Given the description of an element on the screen output the (x, y) to click on. 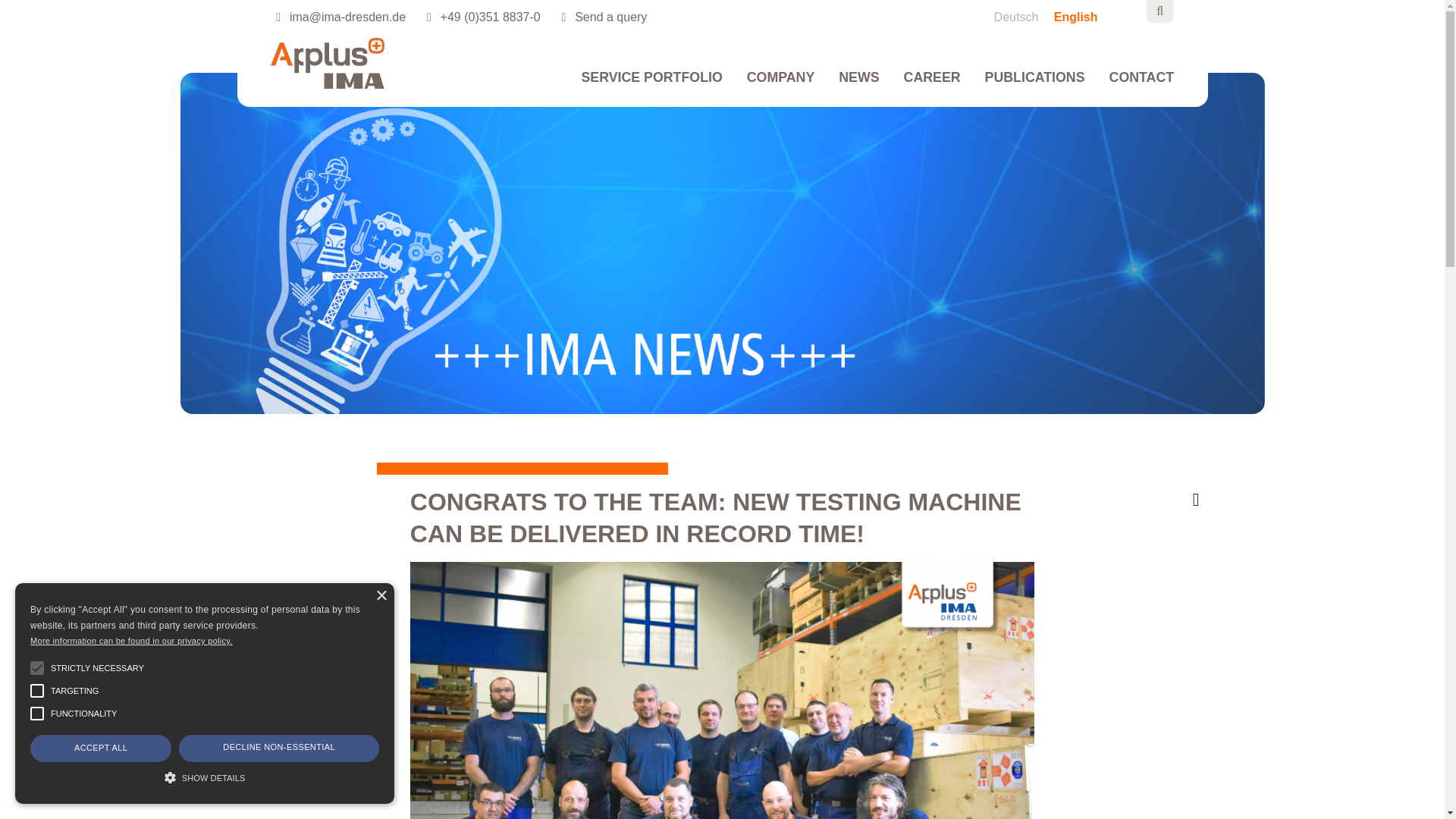
COMPANY (780, 86)
Deutsch (1024, 16)
English (1081, 16)
SERVICE PORTFOLIO (651, 86)
Send a query (607, 16)
